Given the description of an element on the screen output the (x, y) to click on. 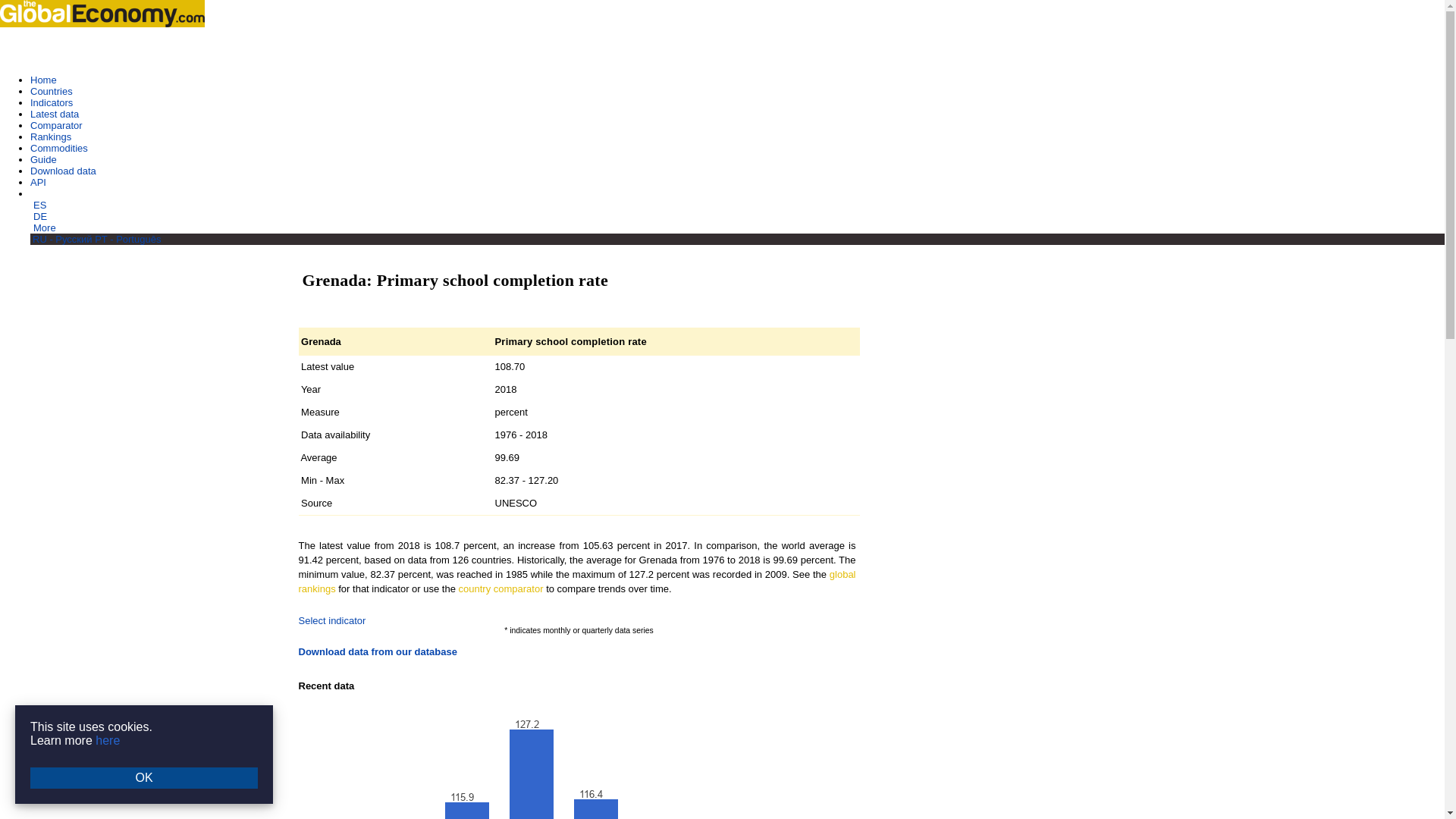
Download data from our database (377, 651)
ES (39, 204)
DE (39, 215)
More (44, 227)
Countries (51, 91)
Comparator (56, 125)
UNESCO (516, 502)
country comparator (500, 588)
Guide (43, 159)
Home (43, 79)
